Given the description of an element on the screen output the (x, y) to click on. 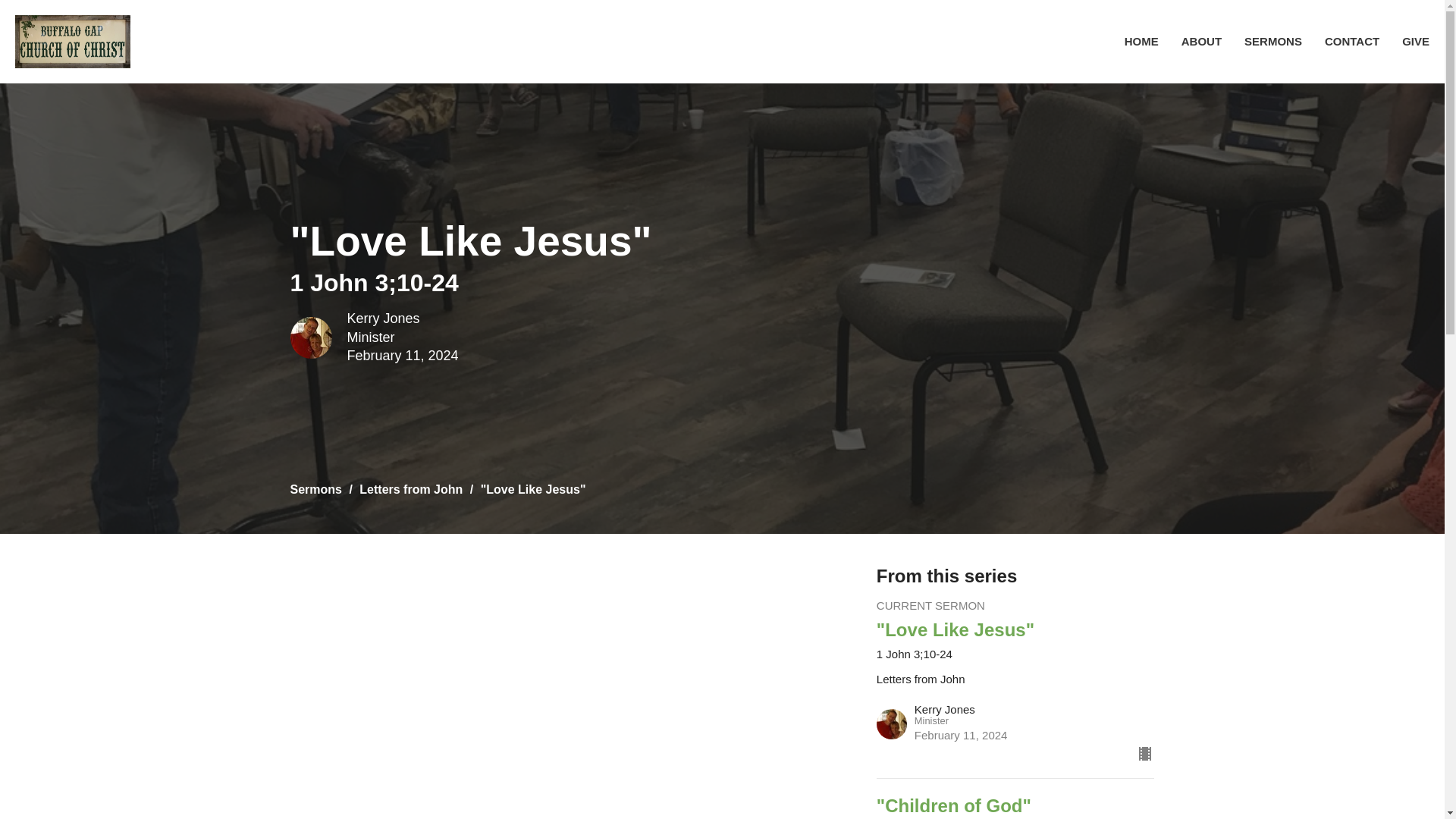
CONTACT (1351, 41)
HOME (1141, 41)
GIVE (1415, 41)
ABOUT (1200, 41)
Letters from John (411, 489)
Sermons (314, 489)
"Love Like Jesus" (1015, 629)
SERMONS (1272, 41)
